Given the description of an element on the screen output the (x, y) to click on. 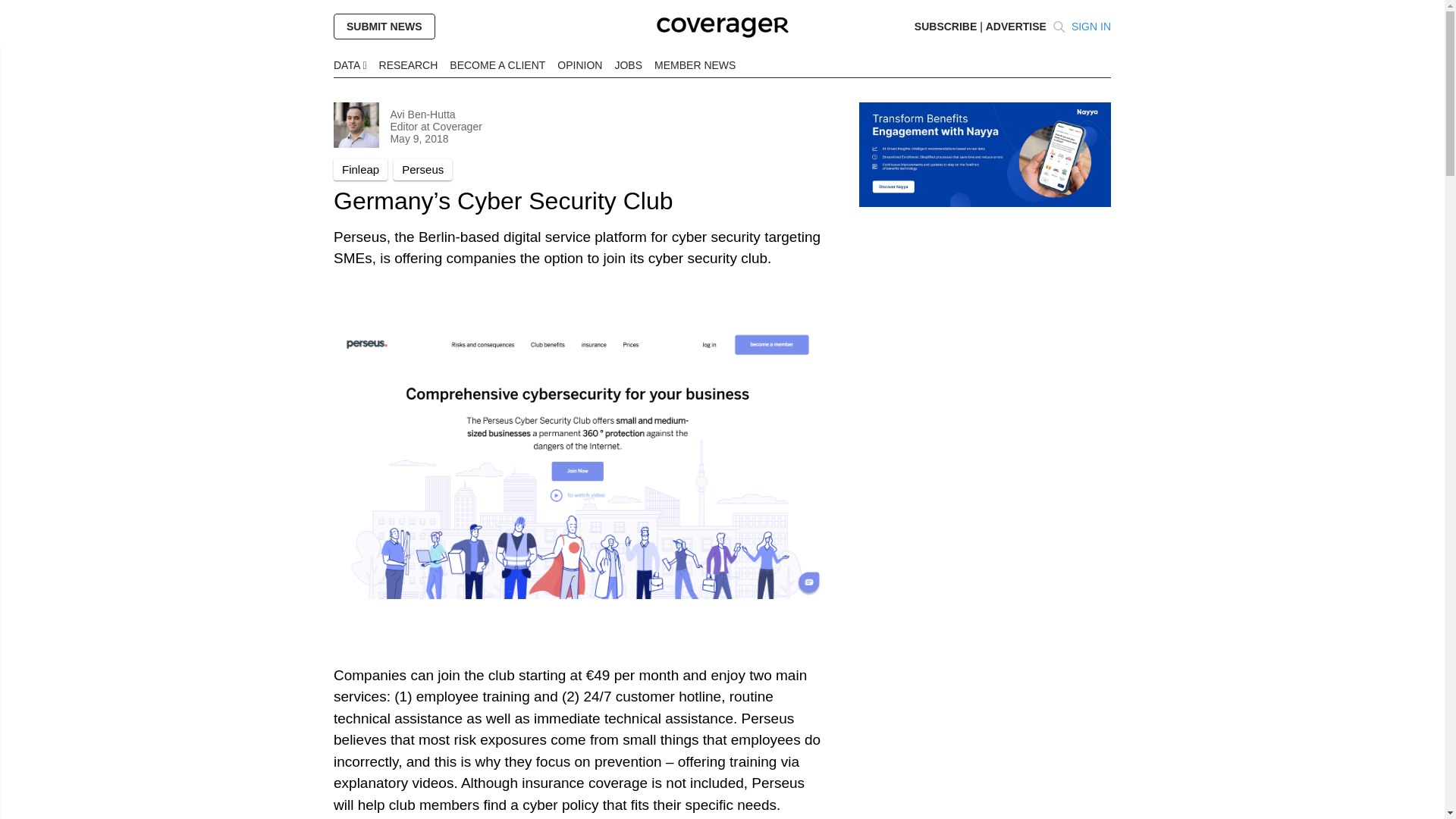
MEMBER NEWS (694, 64)
SUBSCRIBE (945, 26)
RESEARCH (408, 64)
DATA (349, 64)
JOBS (628, 64)
SUBMIT NEWS (384, 26)
SIGN IN (1090, 26)
BECOME A CLIENT (496, 64)
ADVERTISE (1015, 26)
OPINION (579, 64)
